Given the description of an element on the screen output the (x, y) to click on. 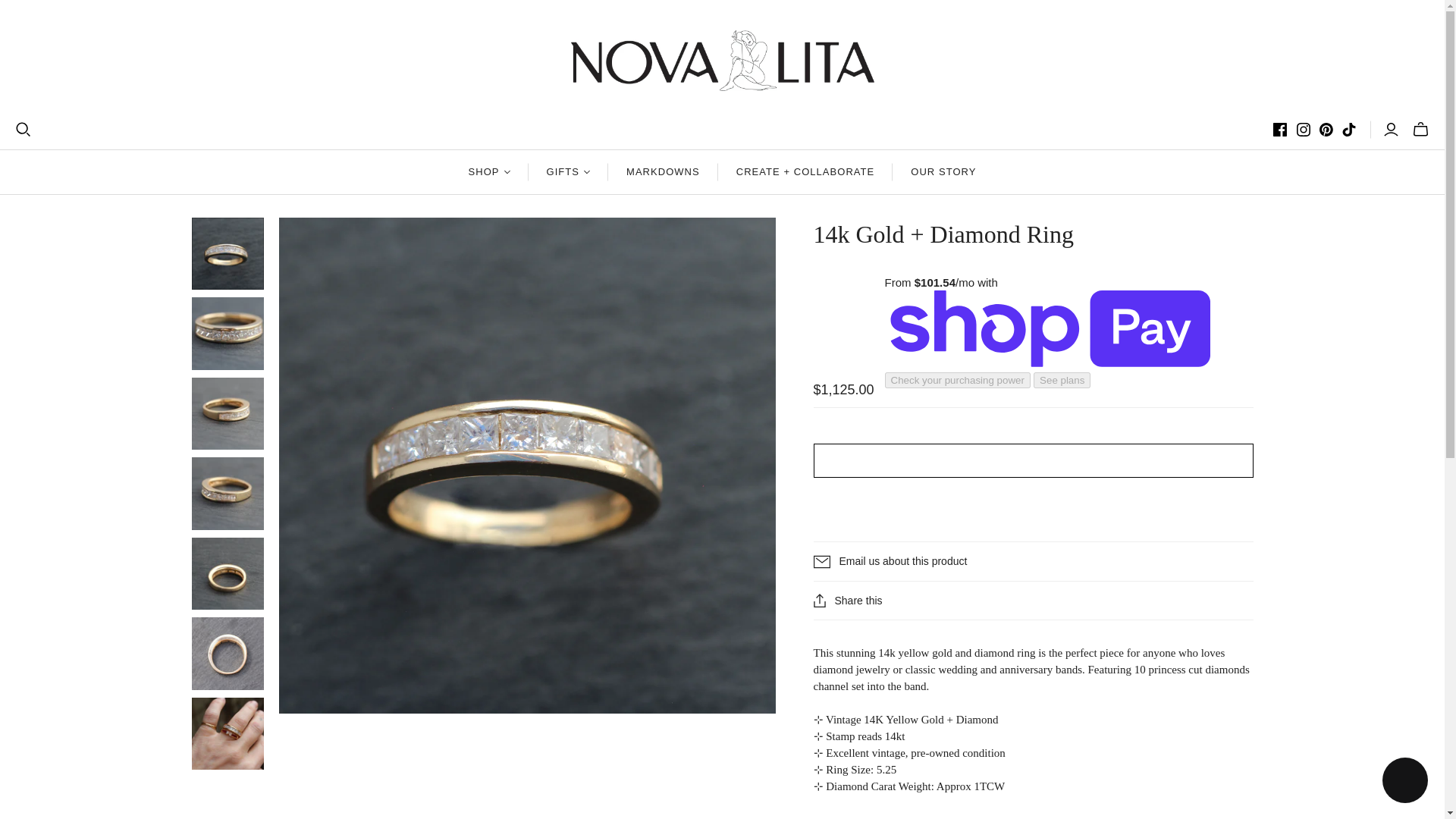
Toggle mini cart (1419, 129)
OUR STORY (943, 171)
Shopify online store chat (1404, 781)
MARKDOWNS (662, 171)
